Given the description of an element on the screen output the (x, y) to click on. 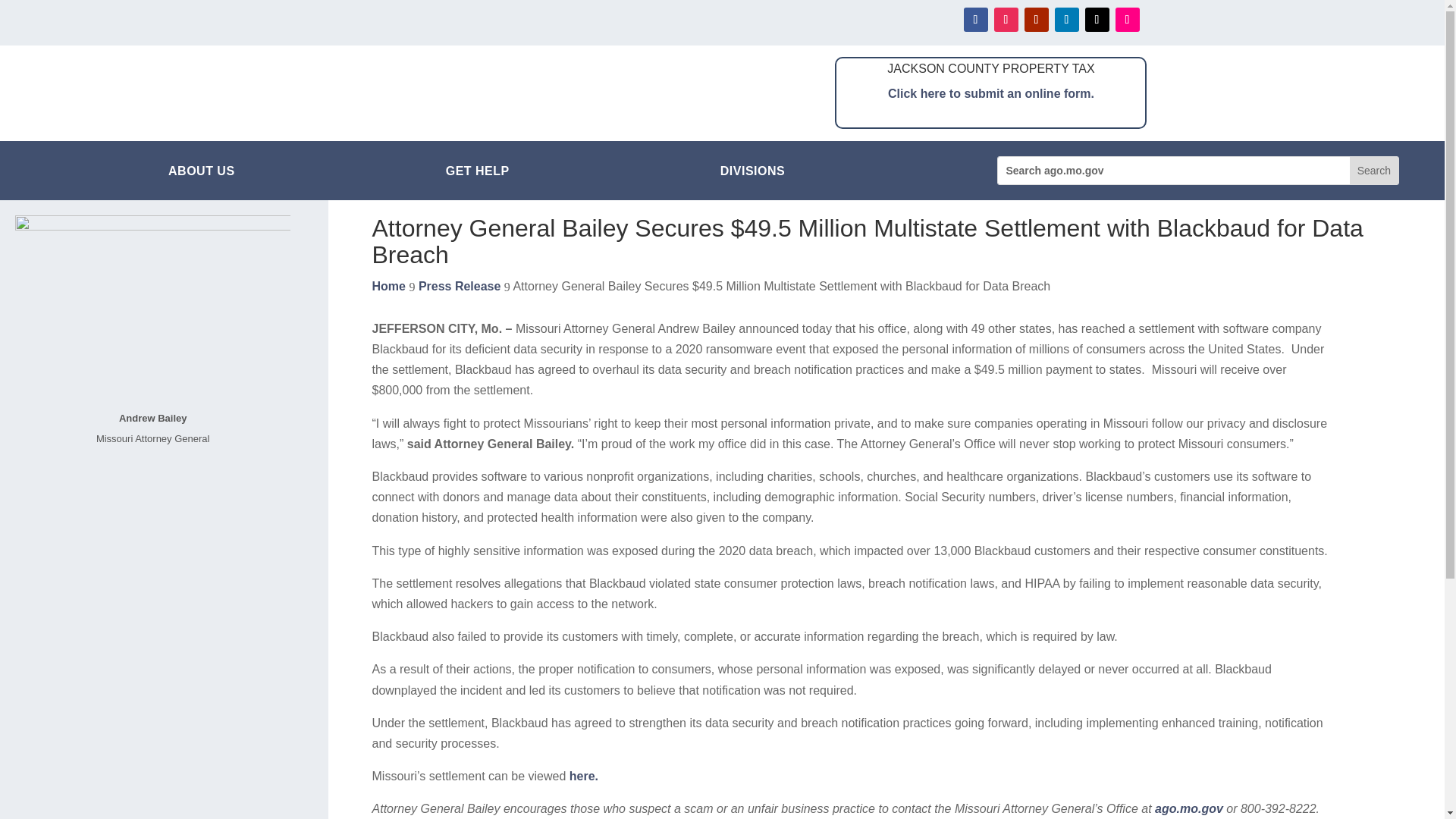
Search (1373, 170)
Follow on Flickr (1126, 19)
Follow on X (1096, 19)
Follow on Instagram (1004, 19)
Follow on LinkedIn (1066, 19)
Search (1373, 170)
Follow on Facebook (974, 19)
Follow on Youtube (1035, 19)
